Given the description of an element on the screen output the (x, y) to click on. 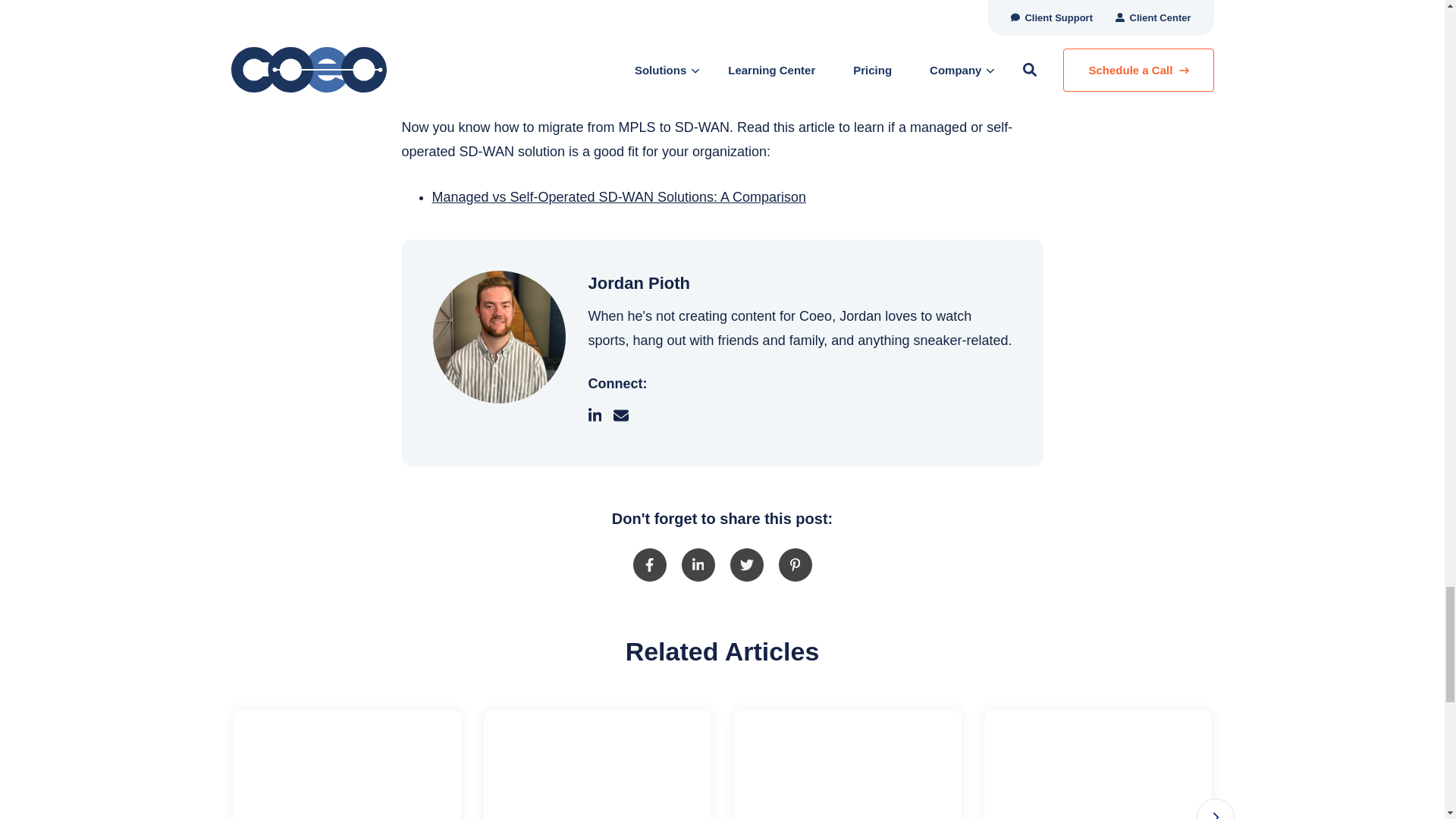
Share on Linkedin (697, 564)
How AI Can Improve Data Management (846, 764)
What is a Cybersecurity Culture and What are the Benefits? (346, 764)
How to Build a Cybersecurity Culture in Your Workplace (597, 764)
Share on Twitter (745, 564)
Share on Pinterest (793, 564)
Jordan Pioth (498, 337)
Share on Facebook (648, 564)
